Given the description of an element on the screen output the (x, y) to click on. 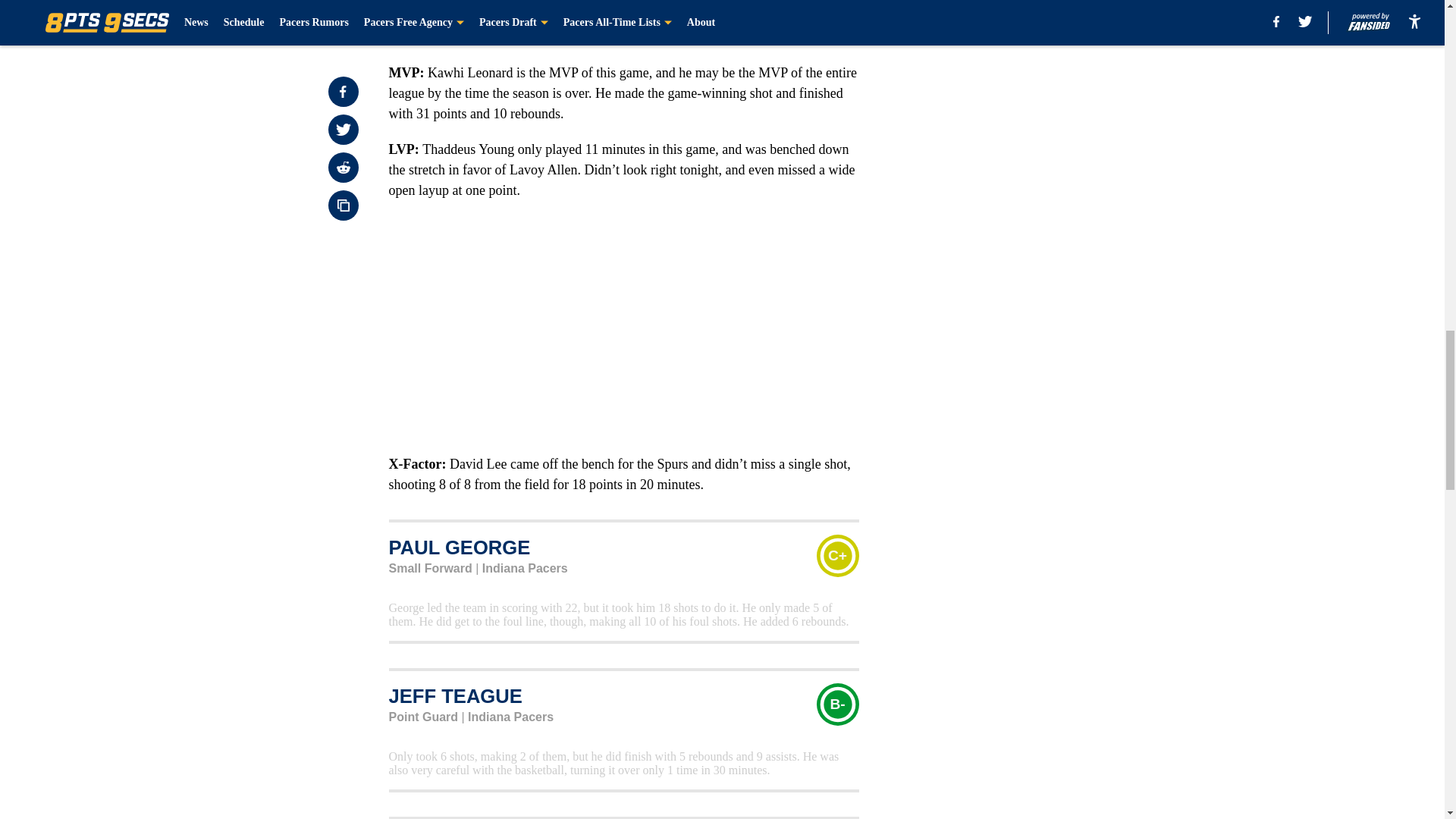
as he shot just 5 of 18 from the field (486, 37)
